Given the description of an element on the screen output the (x, y) to click on. 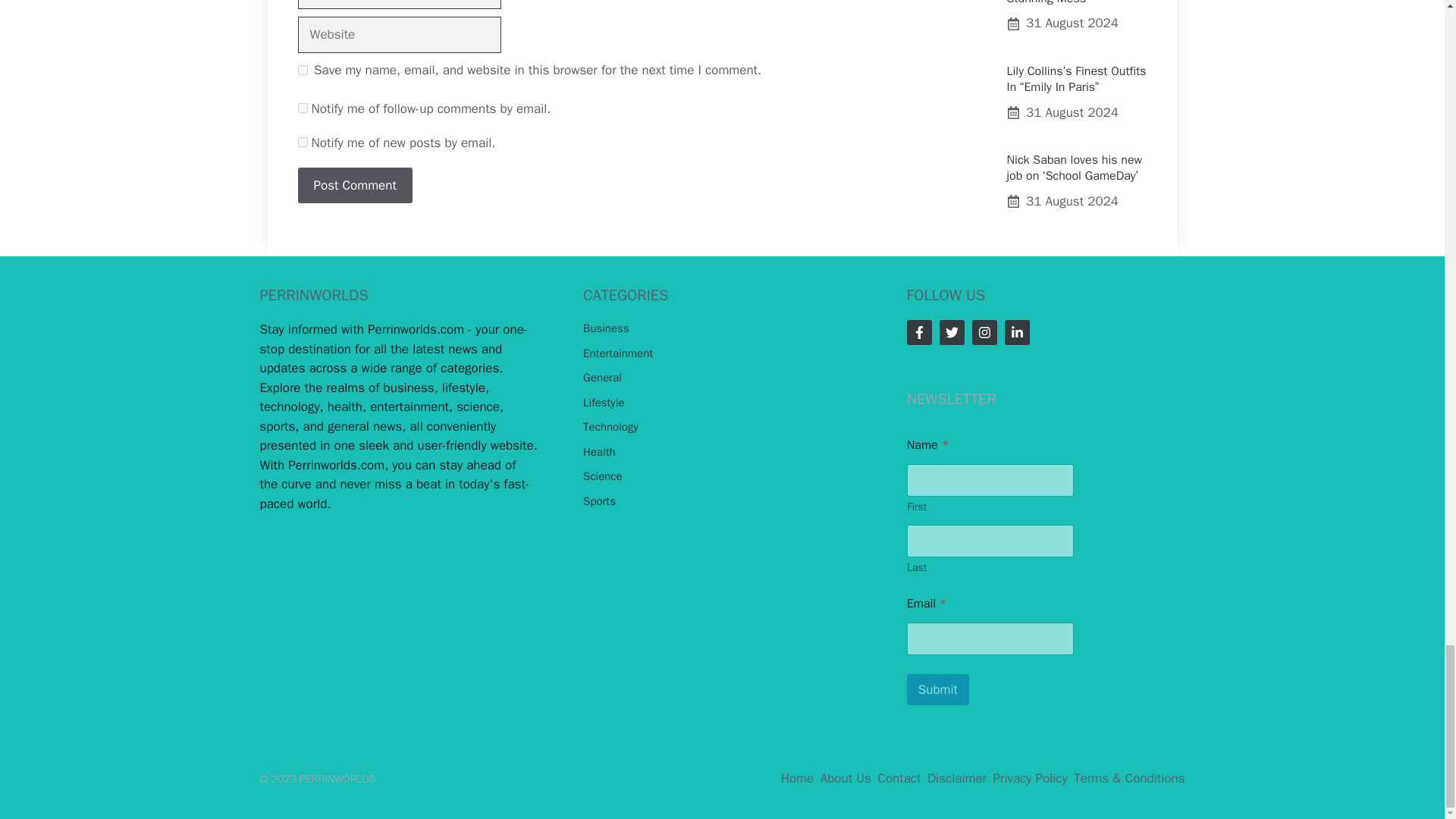
subscribe (302, 142)
Post Comment (354, 185)
subscribe (302, 108)
yes (302, 70)
Post Comment (354, 185)
